Given the description of an element on the screen output the (x, y) to click on. 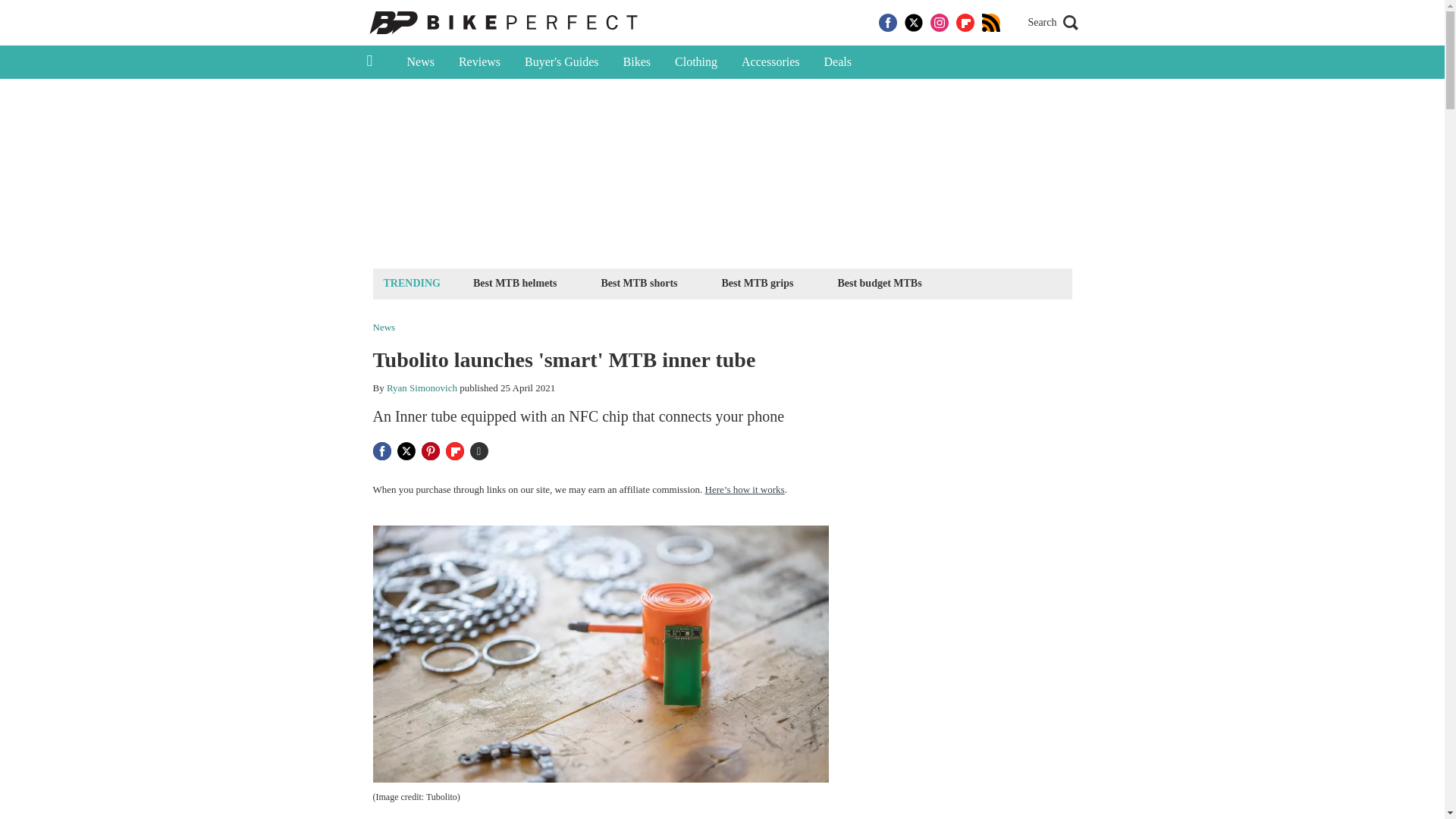
Best MTB grips (757, 282)
Best budget MTBs (878, 282)
Best MTB helmets (514, 282)
Buyer's Guides (561, 61)
Deals (836, 61)
Accessories (769, 61)
News (419, 61)
Reviews (479, 61)
Bikes (636, 61)
Best MTB shorts (638, 282)
